Given the description of an element on the screen output the (x, y) to click on. 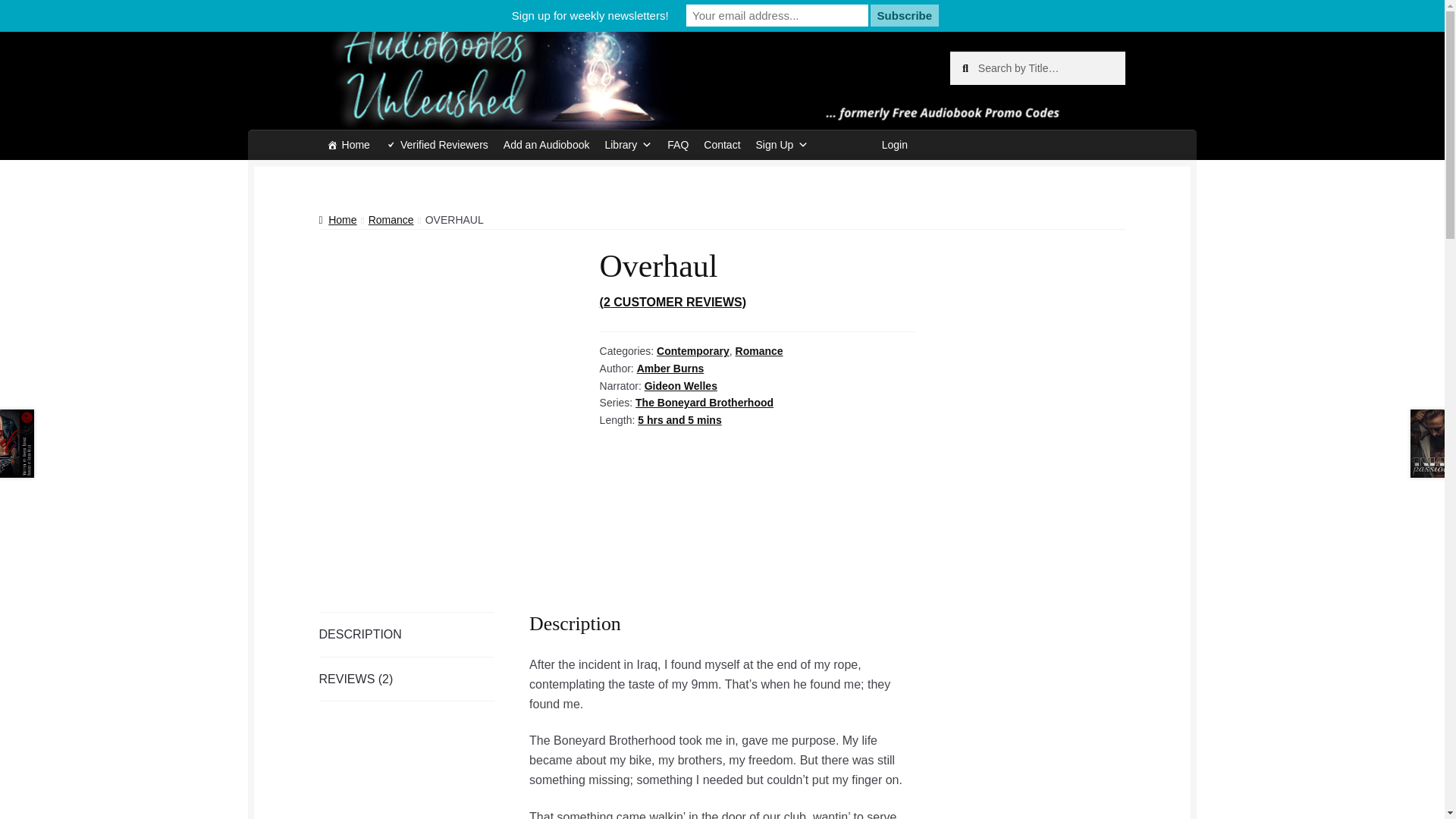
Sign Up (782, 144)
Amber Burns (670, 368)
Subscribe (904, 15)
Verified Reviewers (436, 144)
Home (347, 144)
Add an Audiobook (546, 144)
5 hrs and 5 mins (678, 419)
Home (337, 219)
Gideon Welles (681, 386)
